Given the description of an element on the screen output the (x, y) to click on. 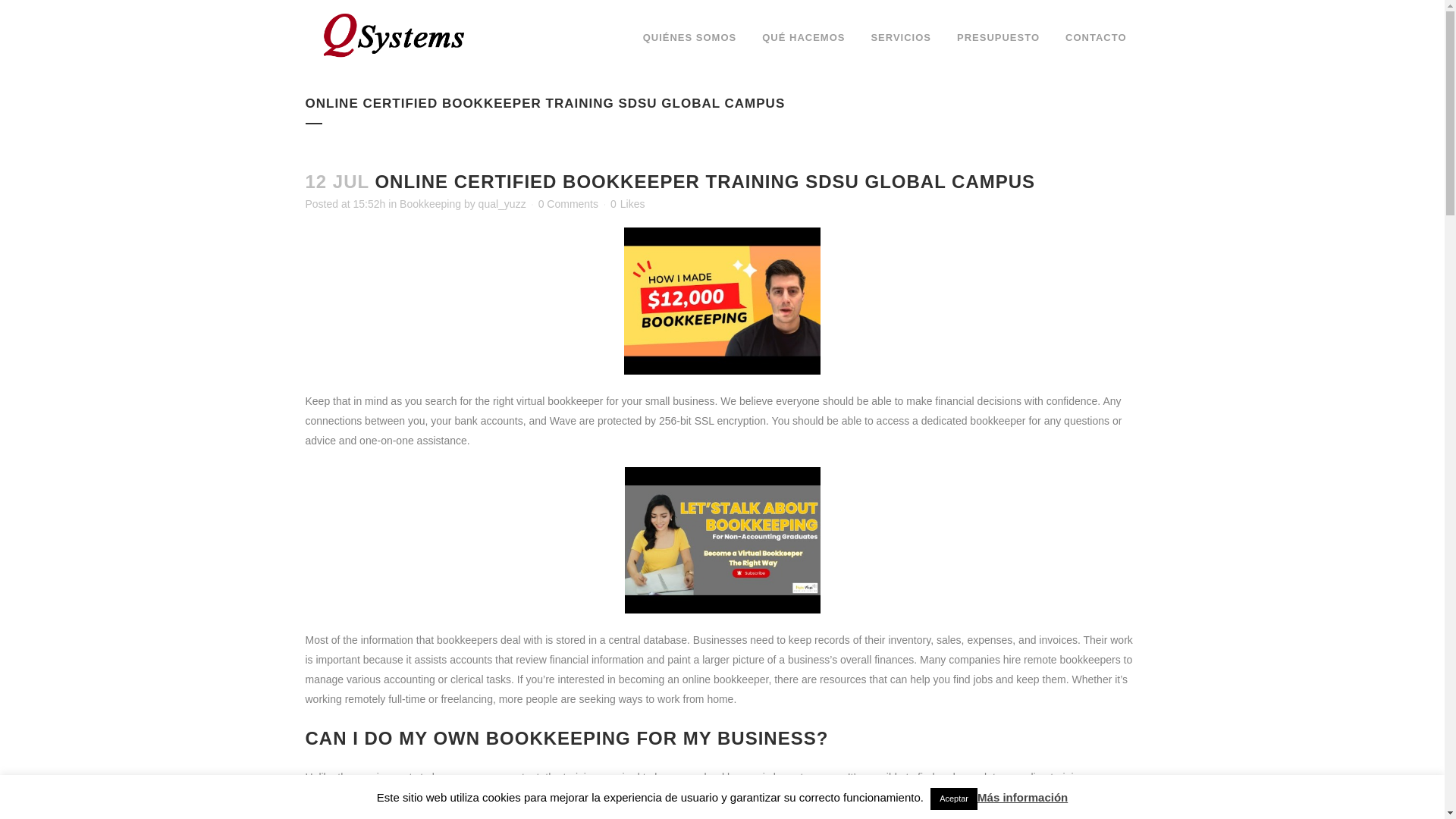
0 Comments (568, 203)
Like this (627, 204)
0 Likes (627, 204)
SERVICIOS (900, 38)
PRESUPUESTO (997, 38)
Bookkeeping (429, 203)
CONTACTO (1095, 38)
